Given the description of an element on the screen output the (x, y) to click on. 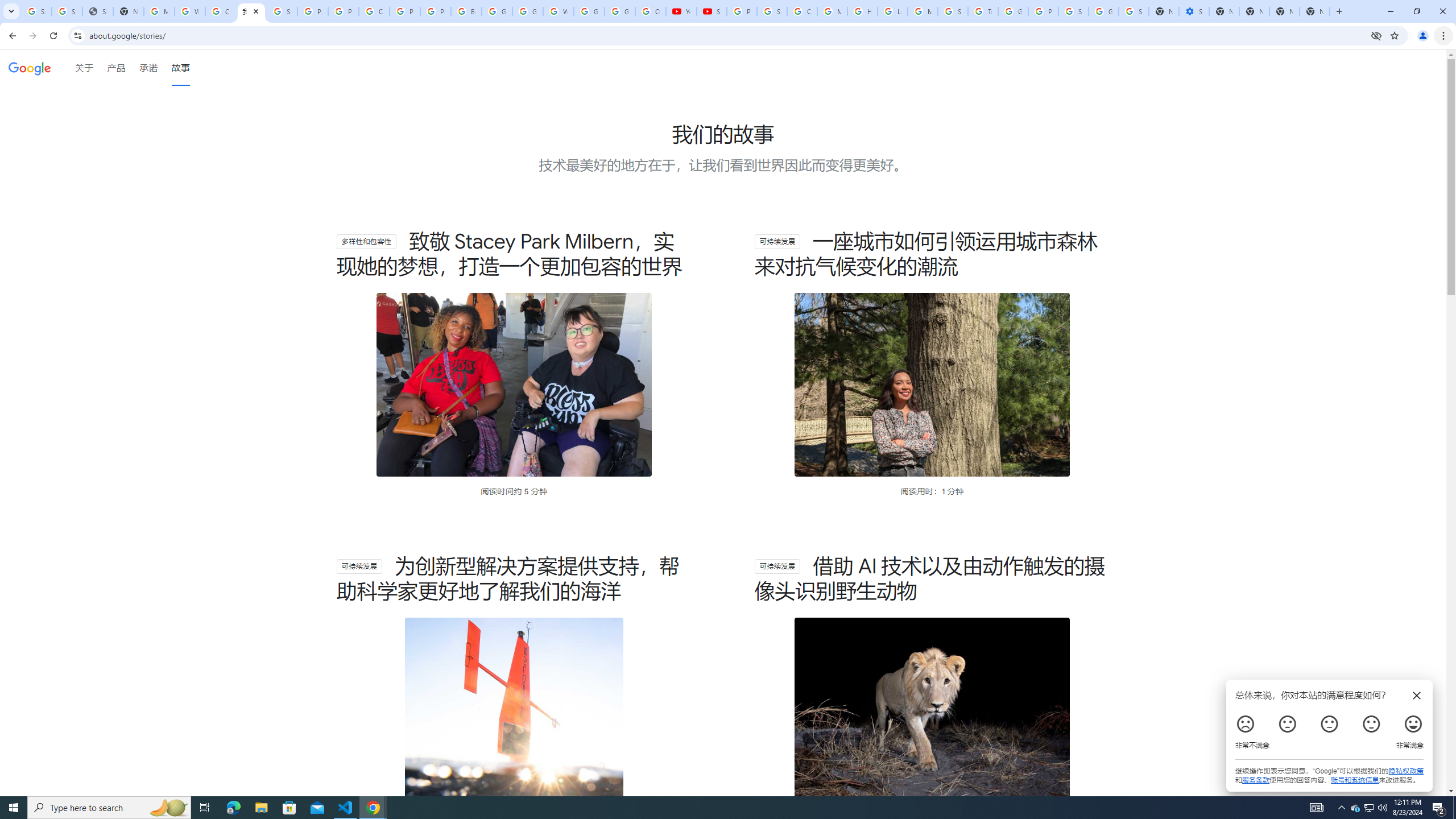
Edit and view right-to-left text - Google Docs Editors Help (465, 11)
Sign in - Google Accounts (1133, 11)
